Given the description of an element on the screen output the (x, y) to click on. 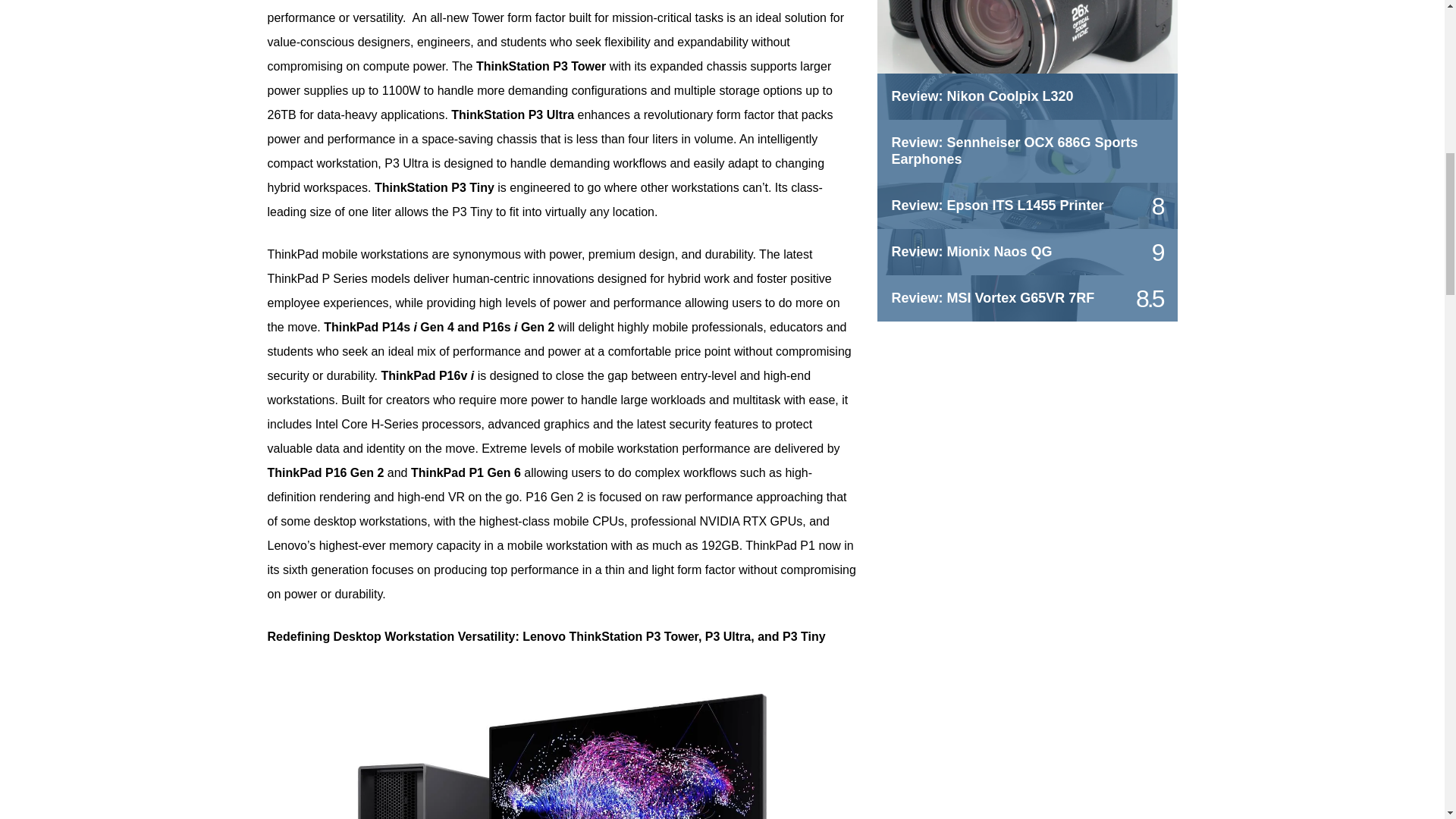
Review: Mionix Naos QG (971, 251)
Review: Epson ITS L1455 Printer (997, 205)
Review: MSI Vortex G65VR 7RF (992, 297)
Review: Nikon Coolpix L320 (1026, 52)
Review: Sennheiser OCX 686G Sports Earphones (1014, 151)
Review: Nikon Coolpix L320 (982, 96)
